Given the description of an element on the screen output the (x, y) to click on. 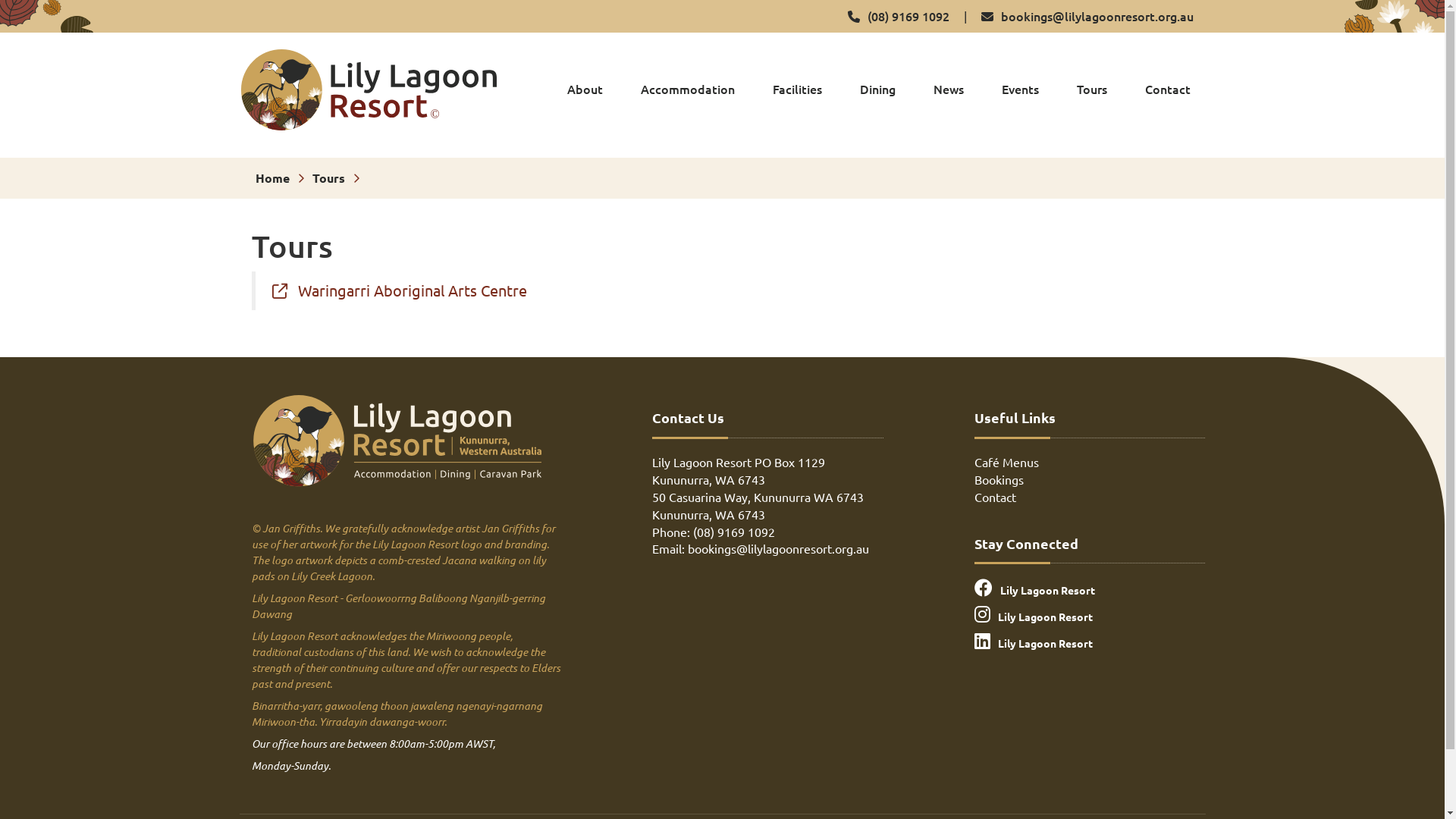
bookings@lilylagoonresort.org.au Element type: text (1087, 15)
Dining Element type: text (877, 88)
Click to go to homepage Element type: hover (367, 87)
Lily Lagoon Resort Element type: text (1089, 614)
Lily Lagoon Resort PO Box 1129
Kununurra, WA 6743 Element type: text (738, 470)
Accommodation Element type: text (686, 88)
Contact Element type: text (1167, 88)
Events Element type: text (1019, 88)
50 Casuarina Way, Kununurra WA 6743
Kununurra, WA 6743 Element type: text (757, 505)
bookings@lilylagoonresort.org.au Element type: text (778, 547)
Tours Element type: text (328, 177)
Contact Element type: text (995, 496)
Lily Lagoon Resort Element type: text (1089, 587)
Lily Lagoon Resort Element type: text (1089, 640)
Facilities Element type: text (796, 88)
Waringarri Aboriginal Arts Centre Element type: text (398, 289)
Bookings Element type: text (998, 478)
Tours Element type: text (1091, 88)
News Element type: text (947, 88)
Home Element type: text (271, 177)
Click to go to homepage Element type: hover (396, 440)
(08) 9169 1092 Element type: text (898, 15)
About Element type: text (585, 88)
(08) 9169 1092 Element type: text (734, 531)
